Given the description of an element on the screen output the (x, y) to click on. 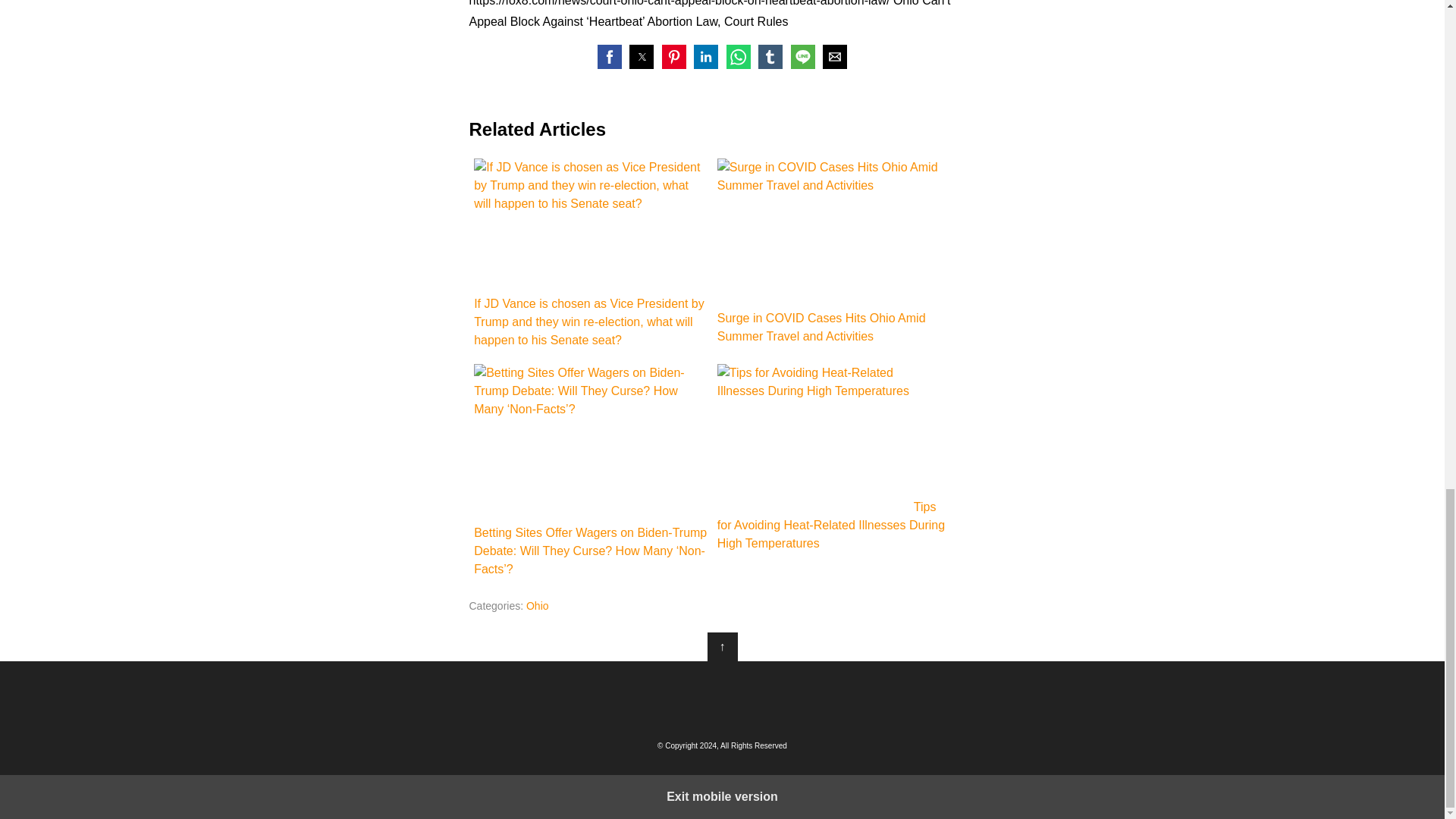
Ohio (536, 605)
Ohionewstime.com (721, 698)
